Given the description of an element on the screen output the (x, y) to click on. 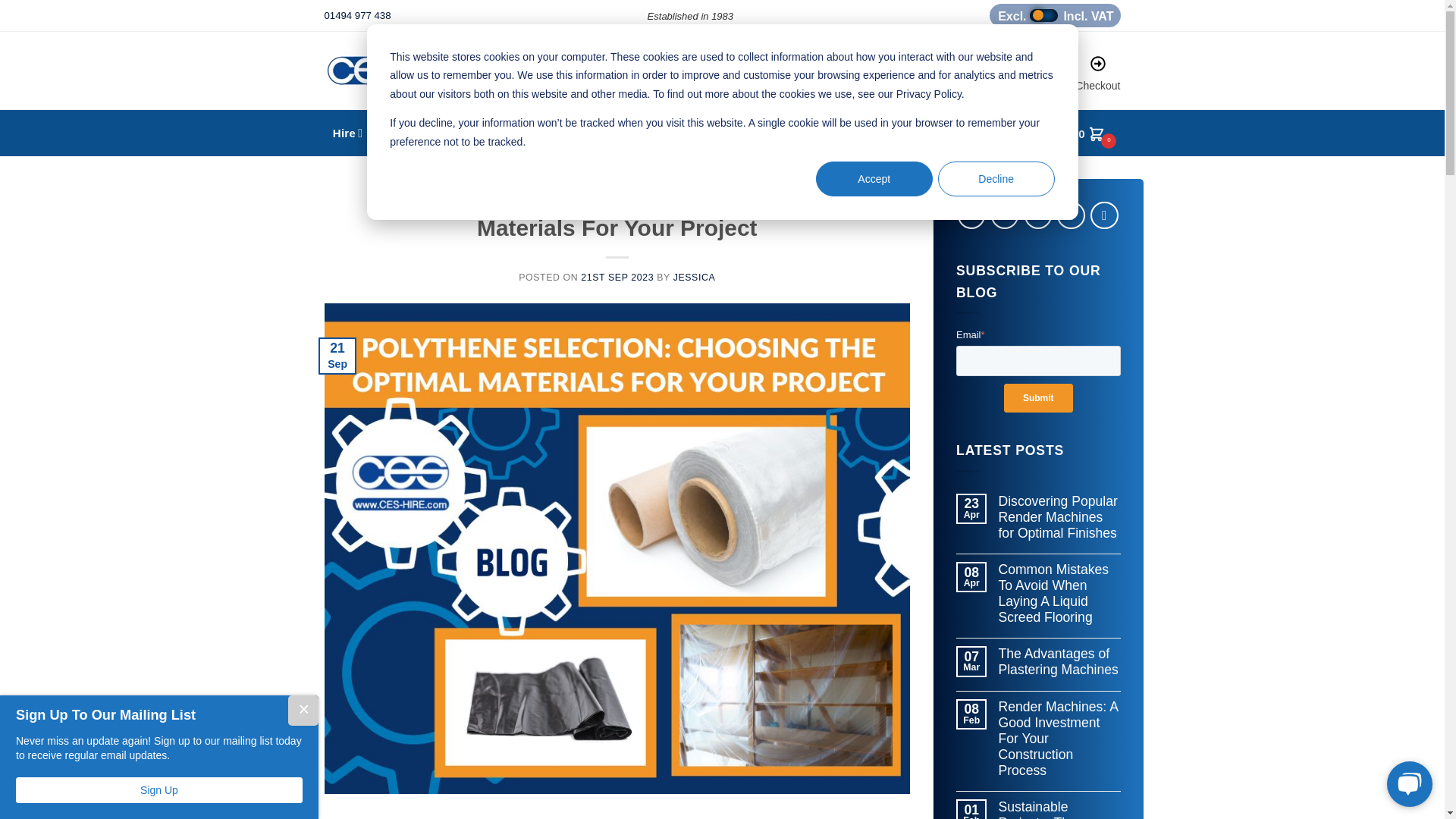
Hire (347, 132)
View your shopping cart (1088, 133)
Checkout (1097, 75)
My Account (928, 75)
Follow on LinkedIn (1070, 215)
Send us an email (1038, 215)
01494 977 438 (357, 15)
Follow on Twitter (1004, 215)
Follow on Facebook (971, 215)
Customer Help (1015, 75)
Machinery (1054, 15)
Cart Total with Tax Included (412, 132)
Search (1072, 133)
CES Hire (444, 70)
